Given the description of an element on the screen output the (x, y) to click on. 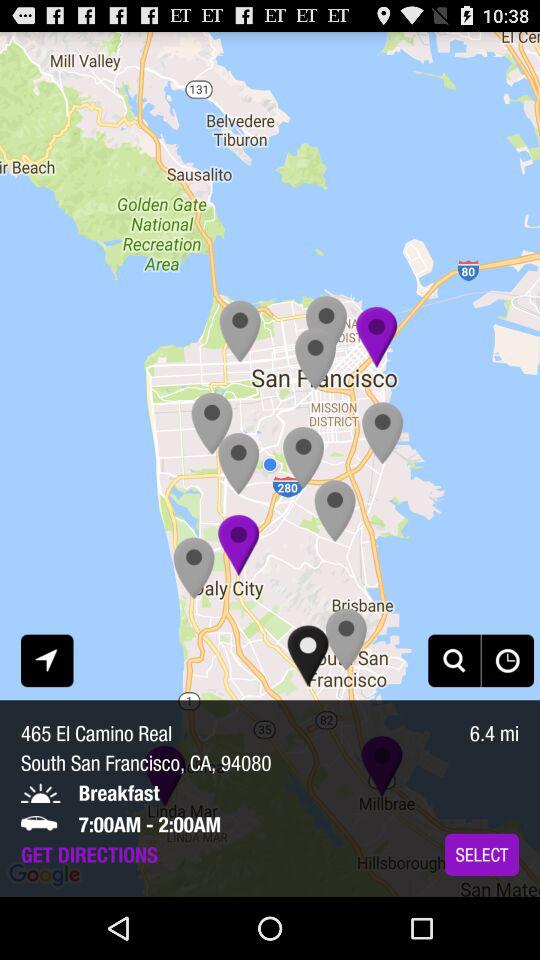
choose get directions icon (89, 854)
